Given the description of an element on the screen output the (x, y) to click on. 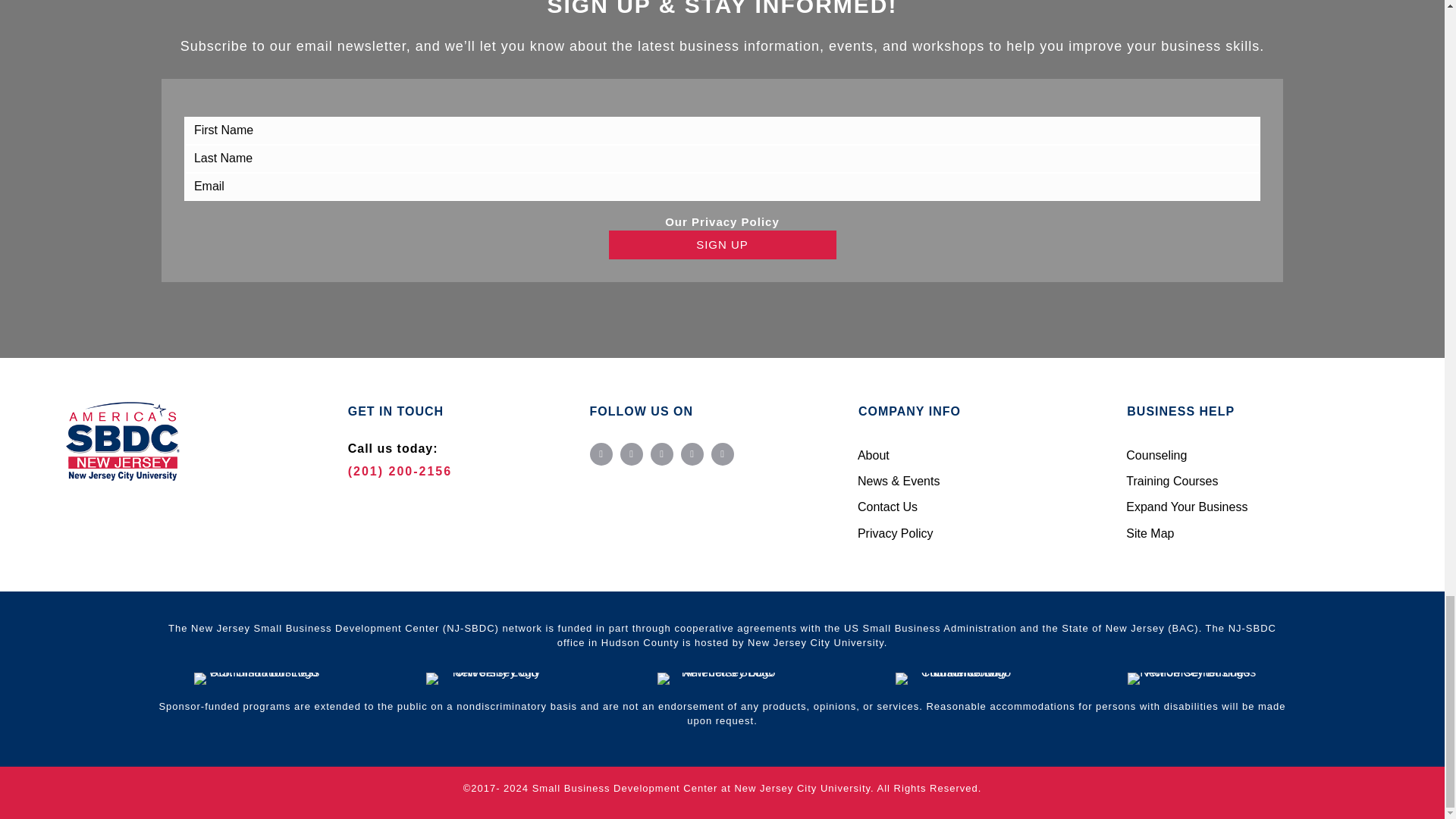
Sign Up (721, 244)
favicon (122, 440)
